Given the description of an element on the screen output the (x, y) to click on. 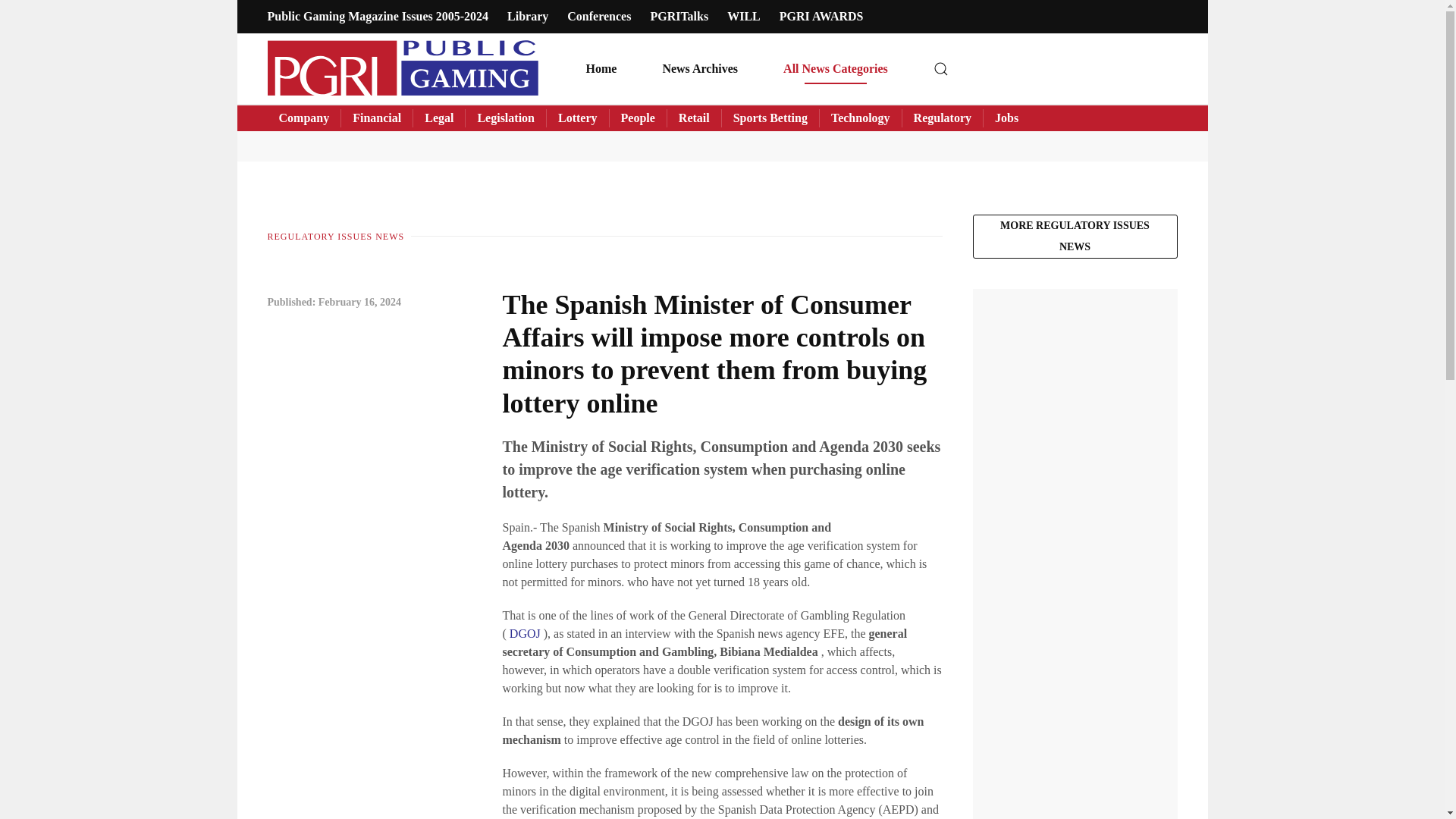
WILL (743, 16)
PGRI AWARDS (820, 16)
PGRITalks (678, 16)
Browse all Regulatory Issues news (1074, 236)
Library (527, 16)
News Archives (700, 67)
All News Categories (835, 67)
Conferences (598, 16)
Public Gaming Magazine Issues 2005-2024 (376, 16)
